Given the description of an element on the screen output the (x, y) to click on. 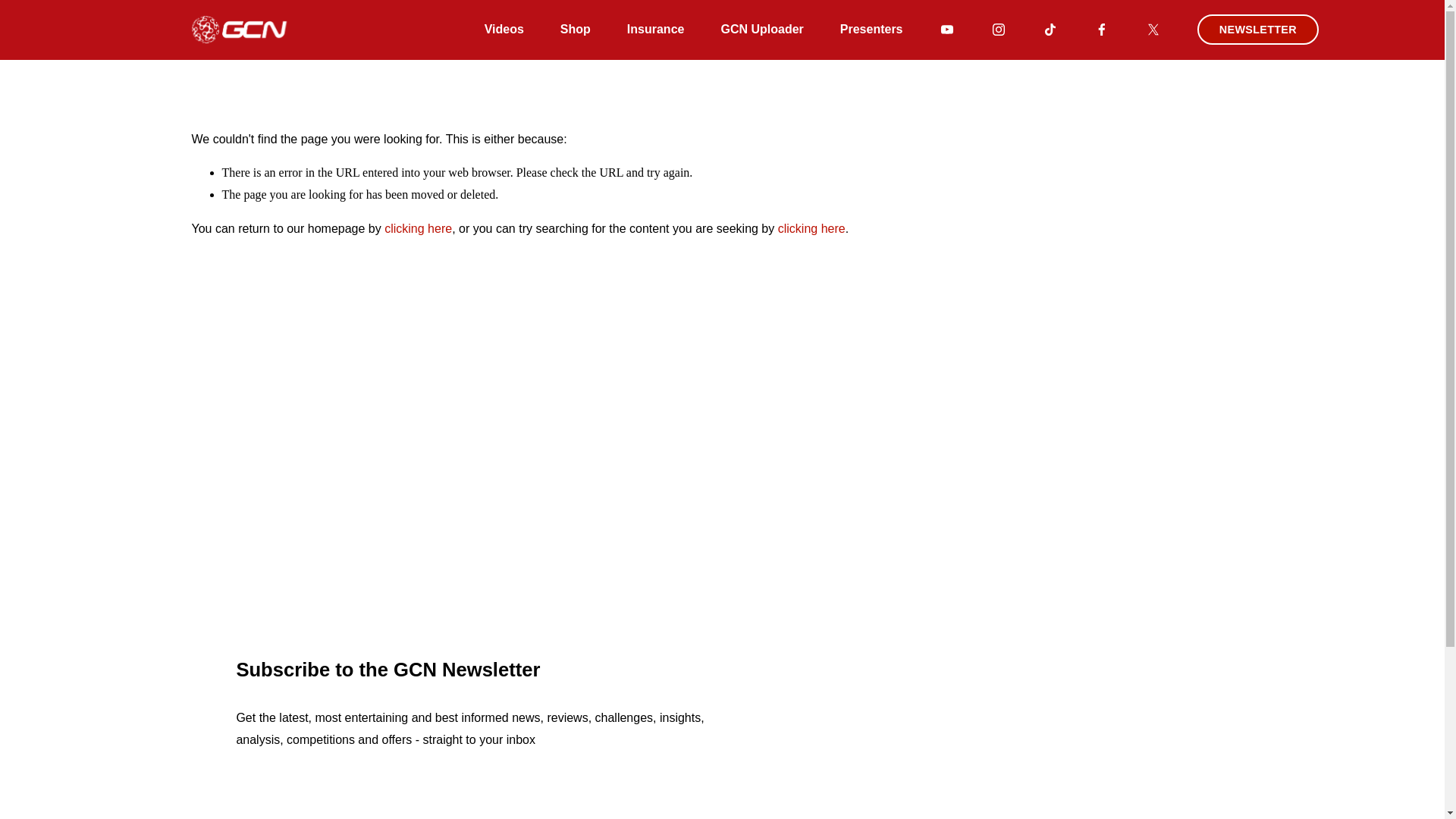
NEWSLETTER (1257, 29)
Insurance (655, 29)
Videos (504, 29)
Presenters (871, 29)
Shop (575, 29)
GCN Uploader (761, 29)
